Given the description of an element on the screen output the (x, y) to click on. 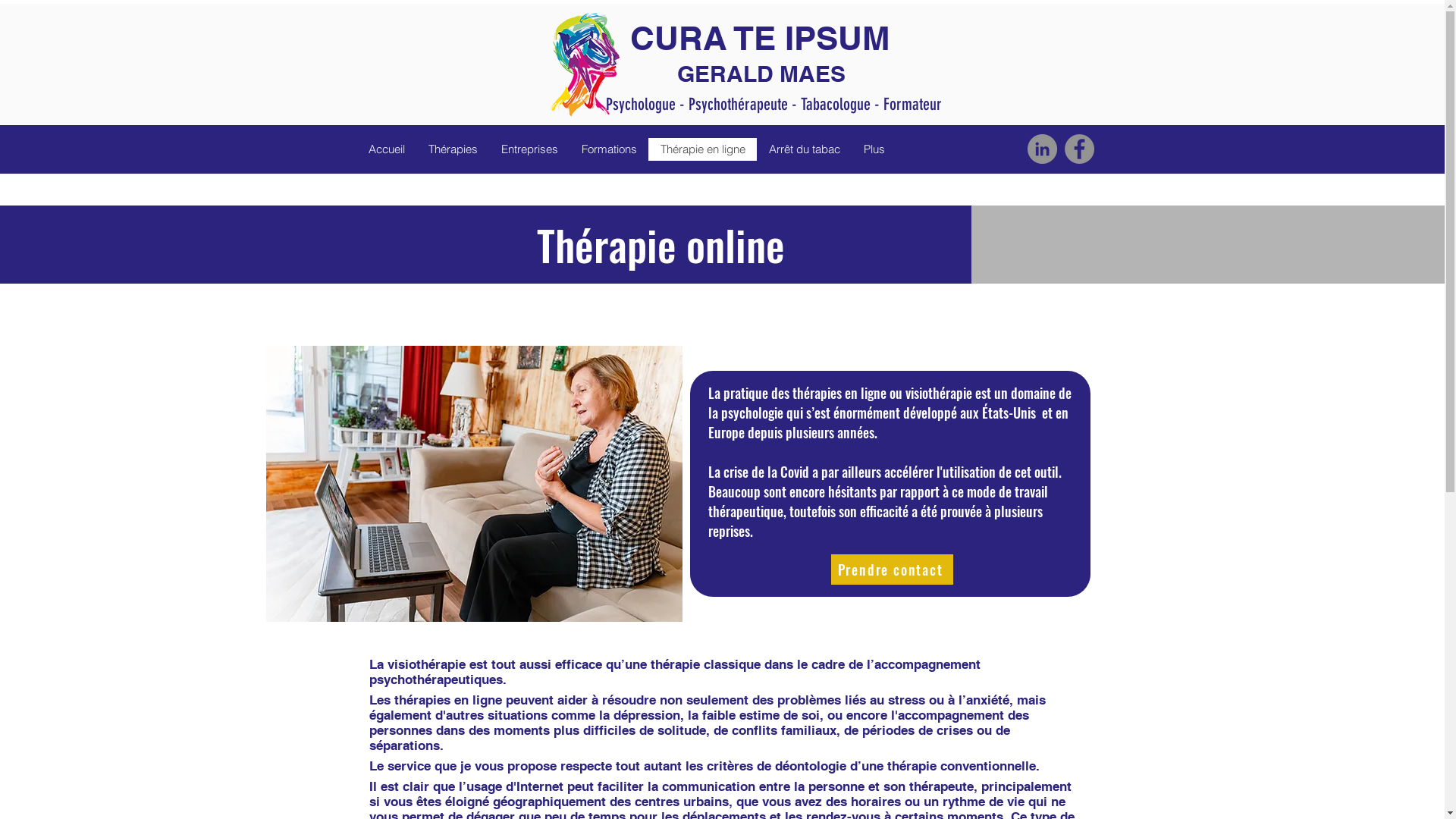
Entreprises Element type: text (528, 149)
Accueil Element type: text (385, 149)
Formations Element type: text (607, 149)
Prendre contact Element type: text (892, 569)
